Given the description of an element on the screen output the (x, y) to click on. 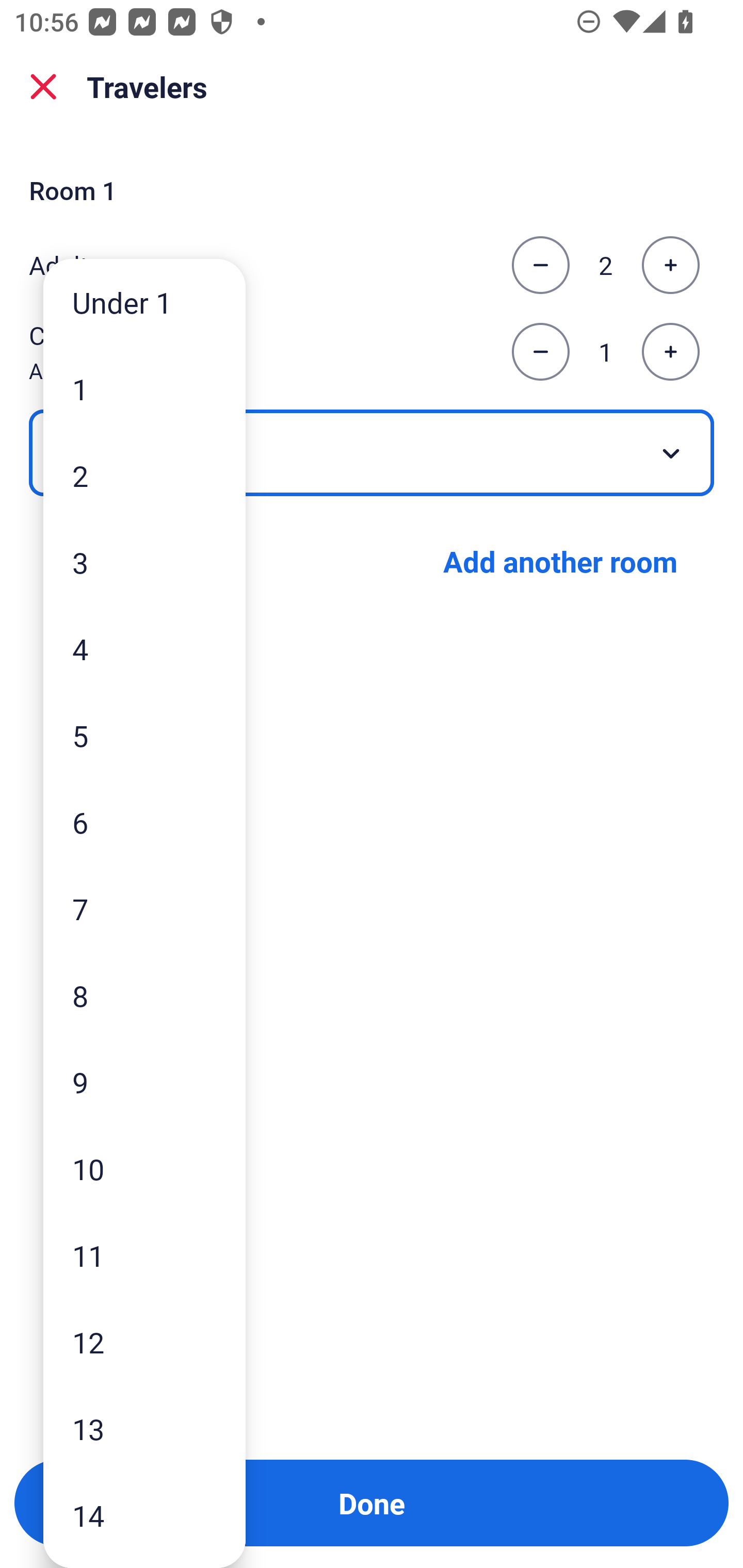
Under 1 (144, 301)
1 (144, 388)
2 (144, 475)
3 (144, 562)
4 (144, 648)
5 (144, 735)
6 (144, 822)
7 (144, 908)
8 (144, 994)
9 (144, 1081)
10 (144, 1168)
11 (144, 1255)
12 (144, 1342)
13 (144, 1429)
14 (144, 1515)
